Given the description of an element on the screen output the (x, y) to click on. 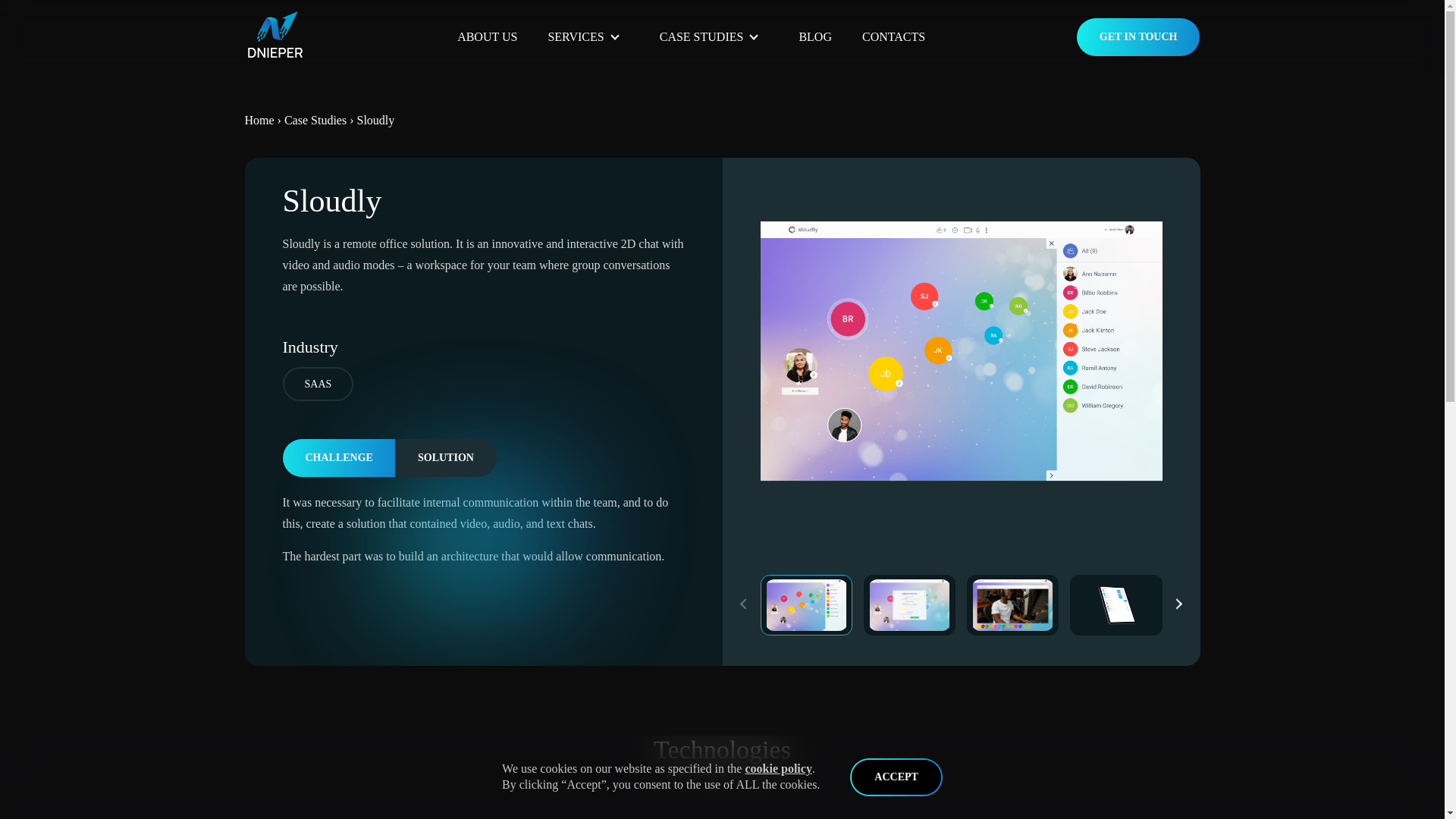
CONTACTS (892, 28)
Case Studies (303, 119)
BLOG (814, 27)
GET IN TOUCH (1138, 35)
CASE STUDIES (708, 4)
Home (243, 119)
SOLUTION (445, 458)
CHALLENGE (338, 458)
